Given the description of an element on the screen output the (x, y) to click on. 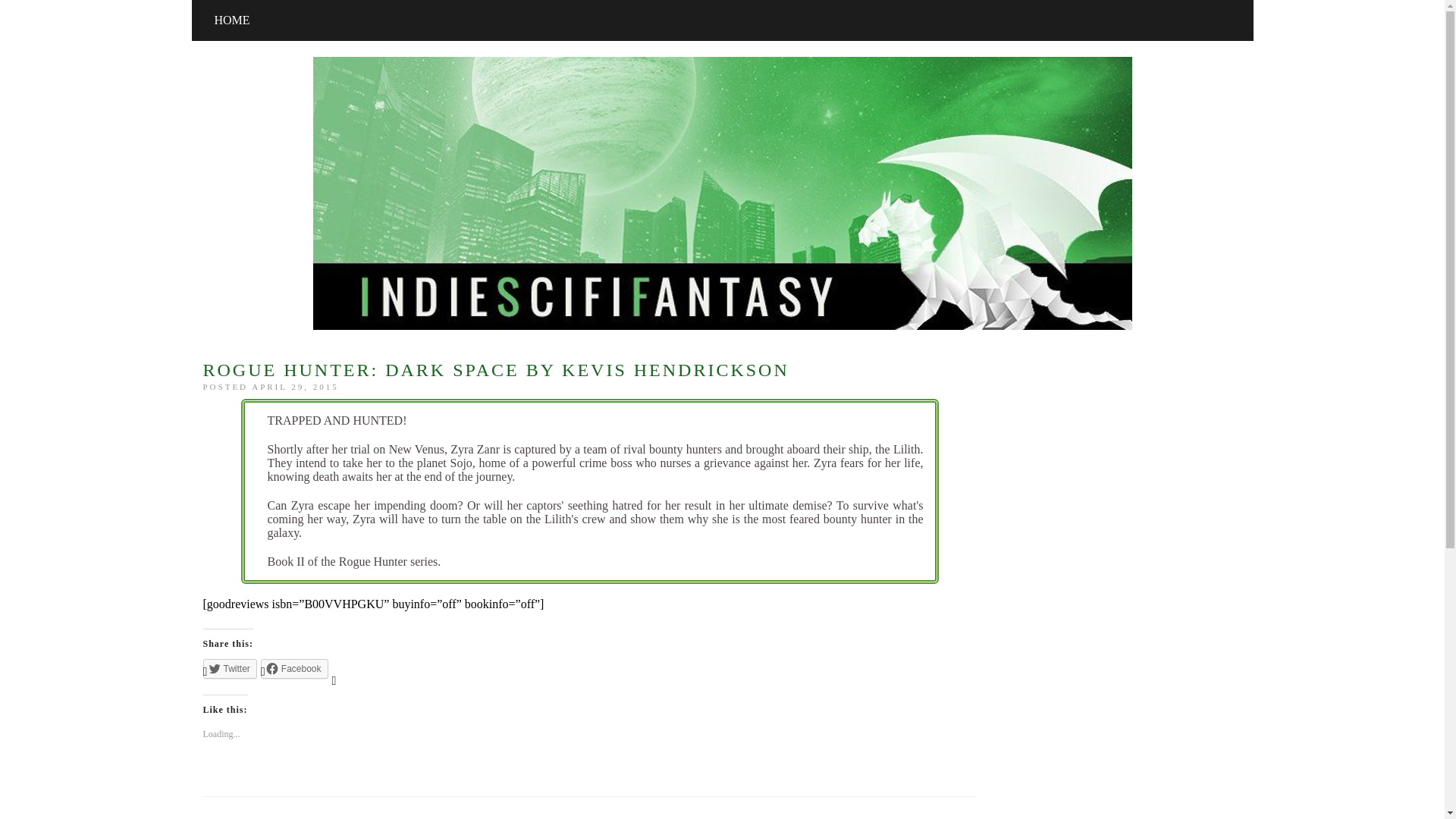
Facebook (294, 668)
Click to share on Facebook (294, 668)
HOME (232, 20)
Click to share on Twitter (230, 668)
Twitter (230, 668)
